Given the description of an element on the screen output the (x, y) to click on. 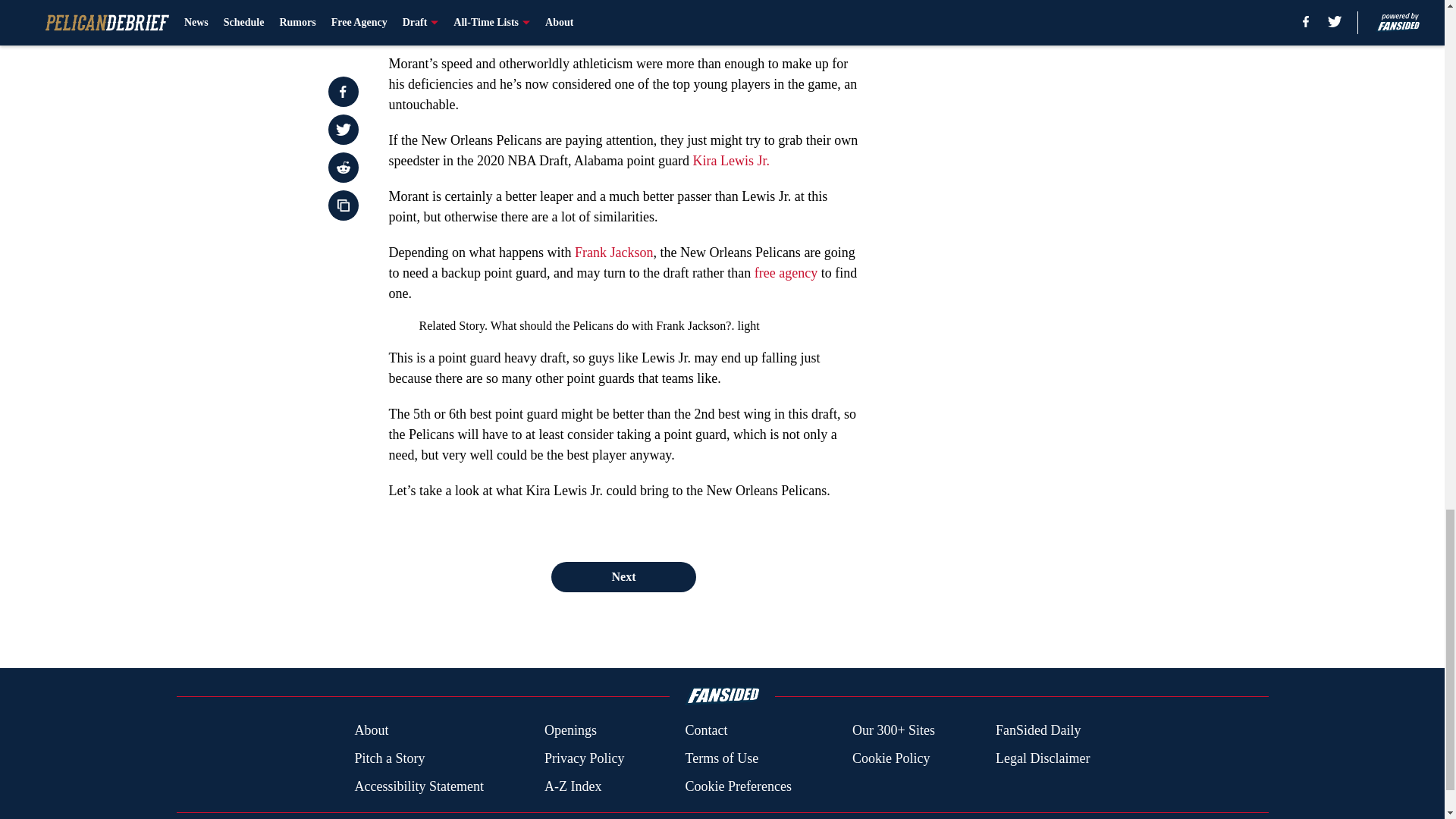
About (370, 730)
Next (622, 576)
Frank Jackson (613, 252)
Openings (570, 730)
free agency (785, 272)
Contact (705, 730)
Kira Lewis Jr. (730, 160)
